Given the description of an element on the screen output the (x, y) to click on. 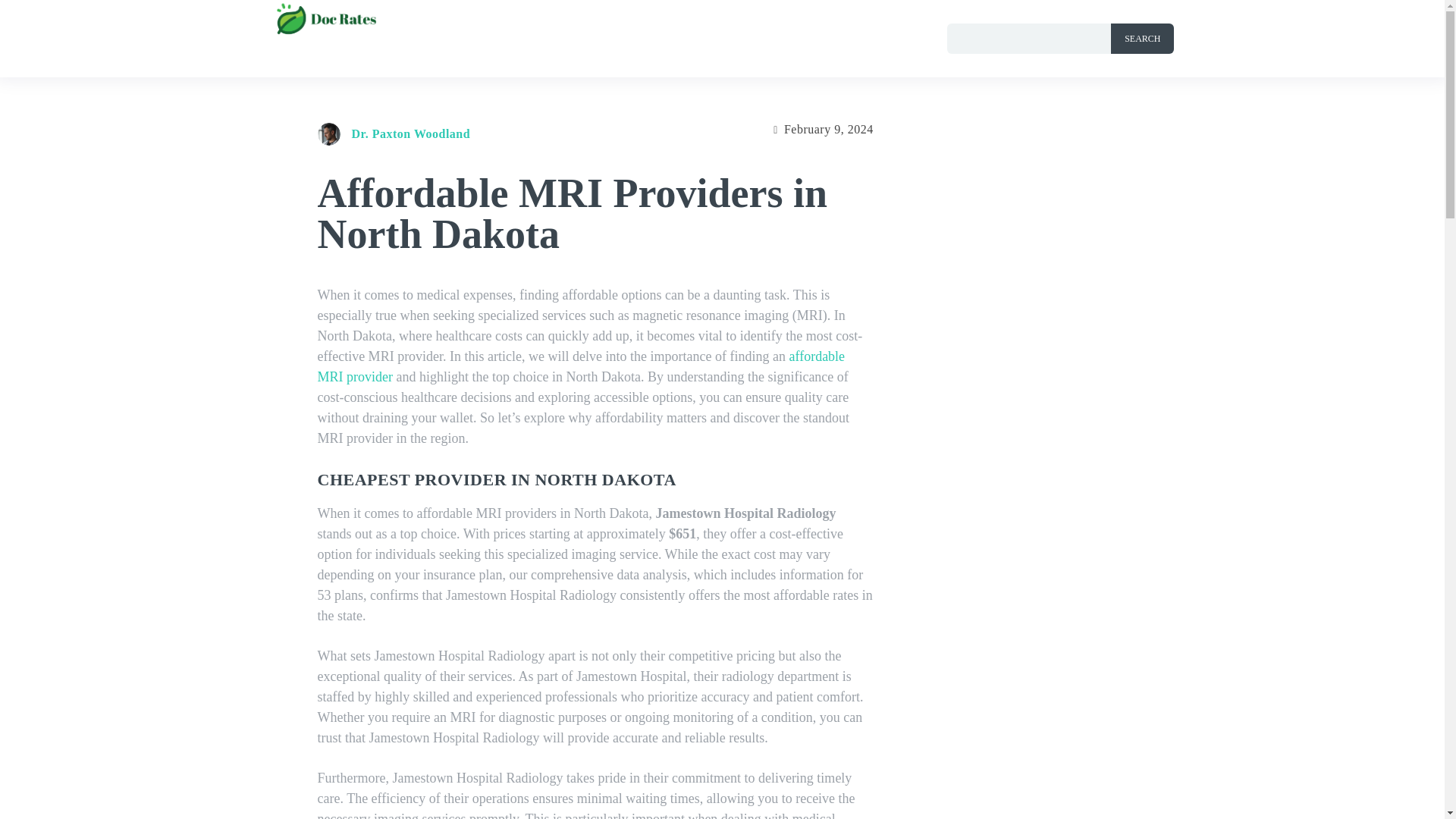
SEARCH (1141, 38)
affordable MRI provider (580, 366)
Dr. Paxton Woodland (411, 133)
Dr. Paxton Woodland (332, 133)
